Given the description of an element on the screen output the (x, y) to click on. 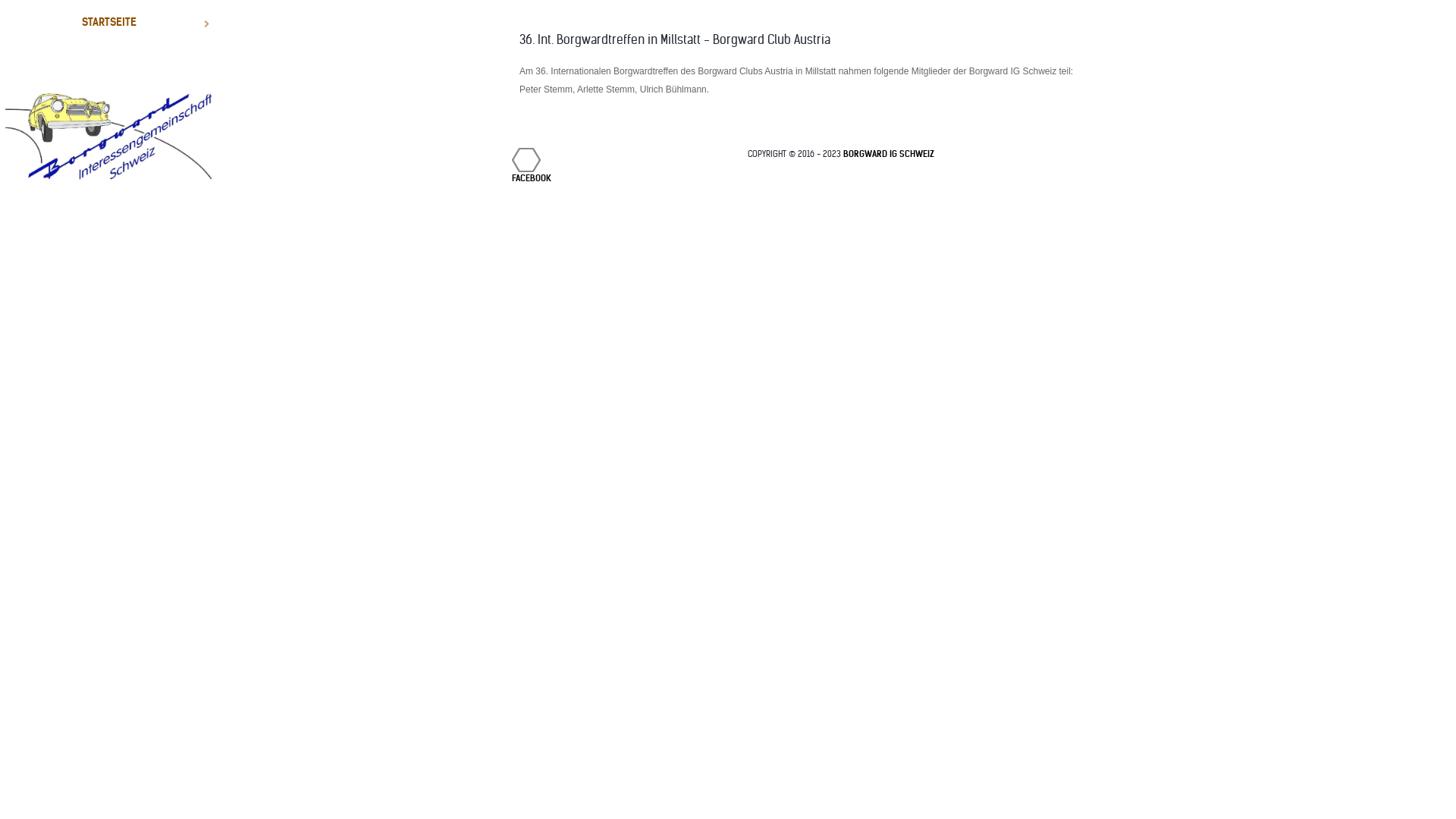
FACEBOOK Element type: text (525, 159)
STARTSEITE Element type: text (109, 21)
BORGWARD IG SCHWEIZ Element type: text (888, 153)
